Given the description of an element on the screen output the (x, y) to click on. 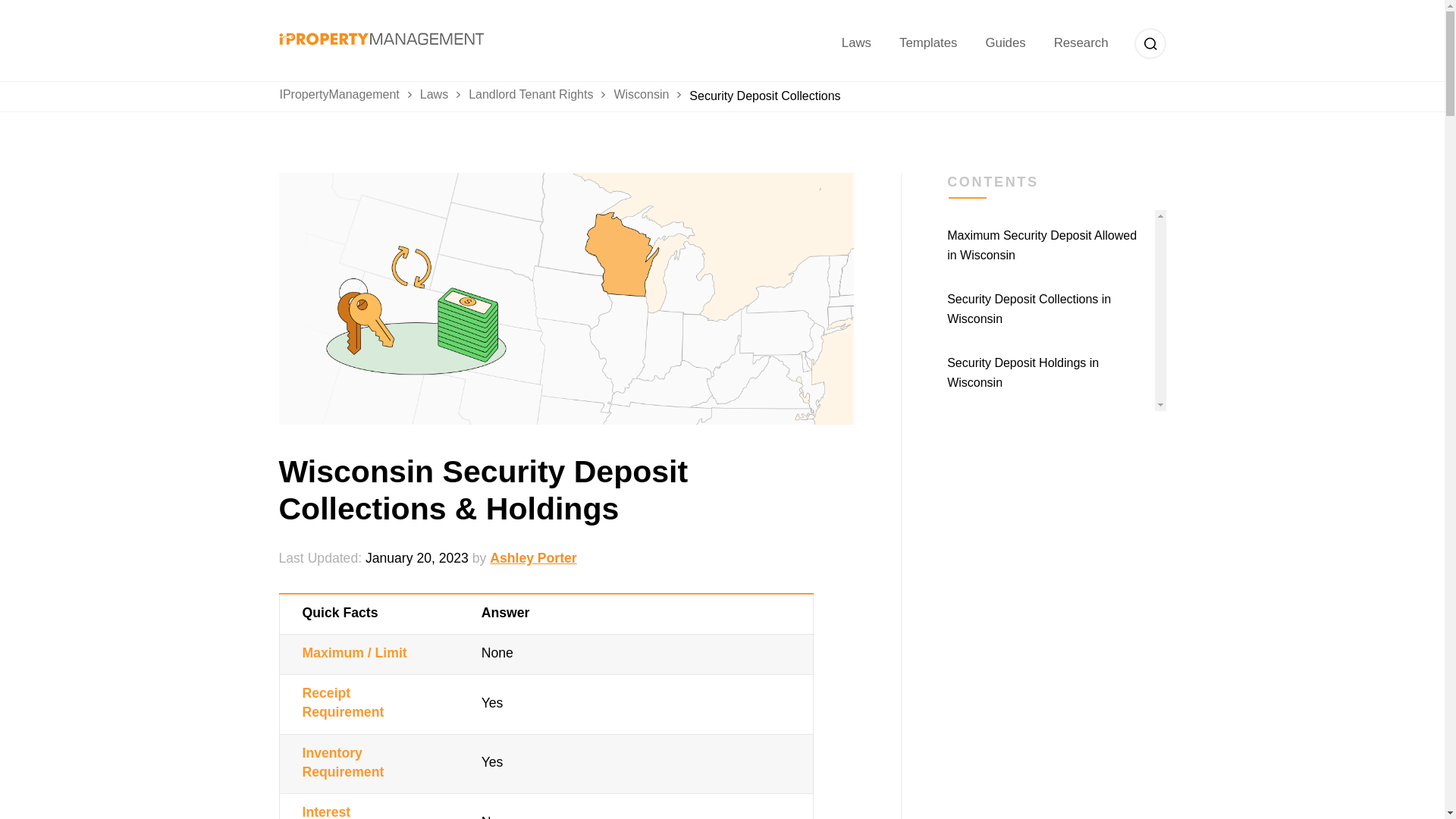
IPropertyManagement (349, 95)
Landlord Tenant Rights (540, 95)
Wisconsin (650, 95)
Security Deposit Collections (764, 96)
 Laws (444, 95)
iPropertyManagement.com (381, 34)
Ashley Porter (532, 557)
